Given the description of an element on the screen output the (x, y) to click on. 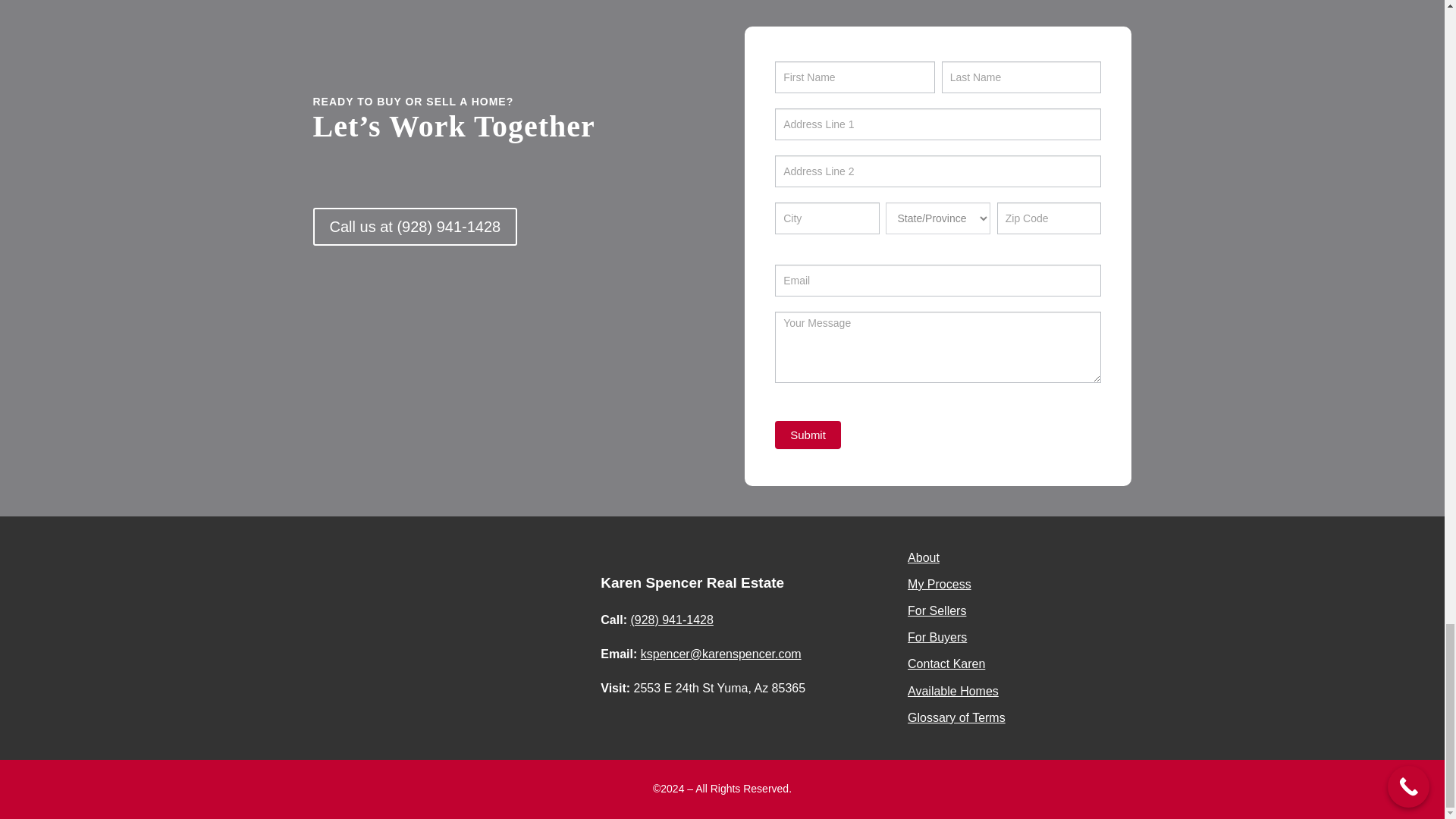
Submit (807, 434)
Glossary of Terms (956, 717)
For Buyers (936, 636)
About (923, 557)
My Process (939, 584)
Available Homes (952, 690)
For Sellers (936, 610)
Contact Karen (946, 663)
